Given the description of an element on the screen output the (x, y) to click on. 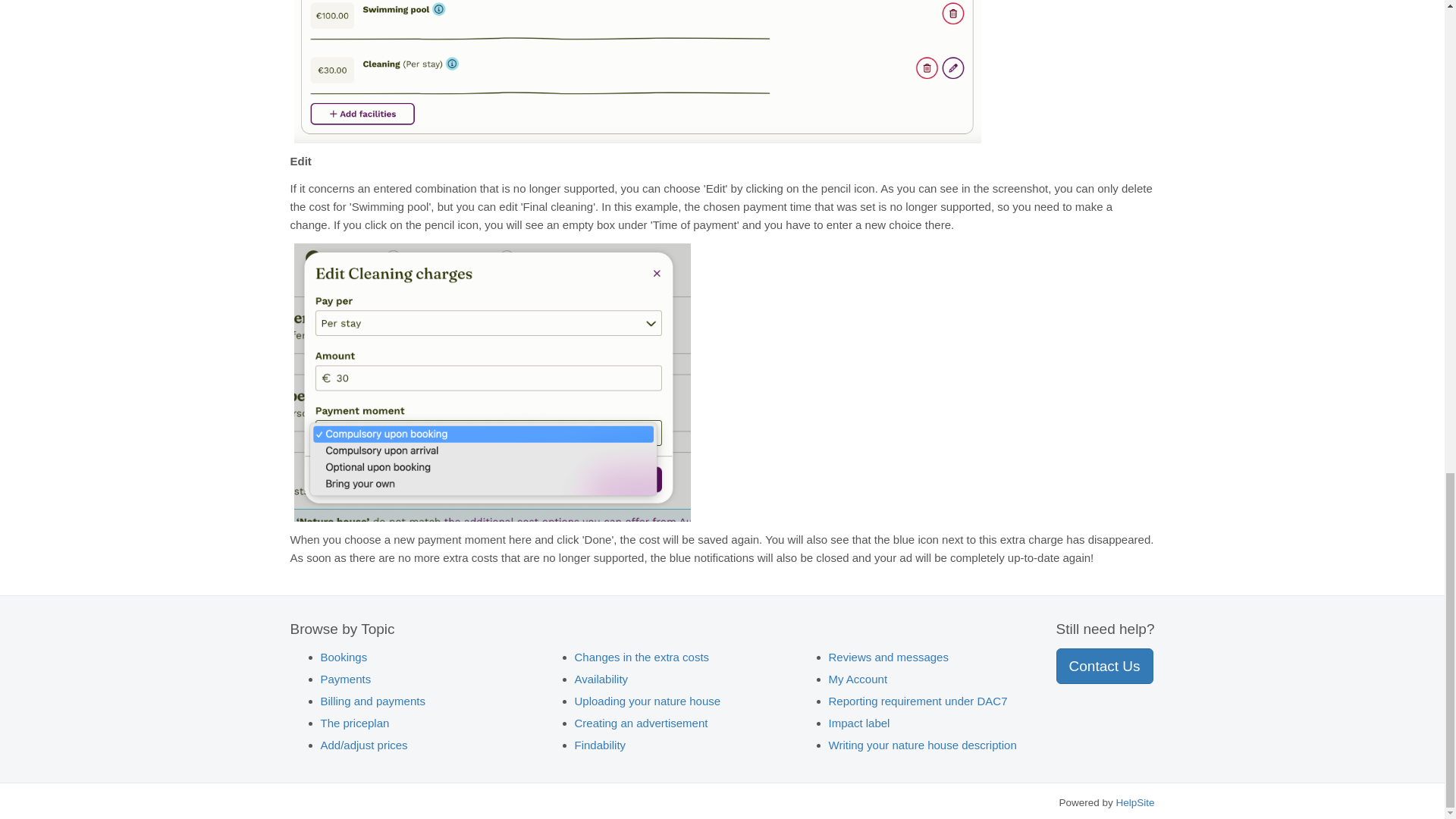
Impact label (858, 722)
Billing and payments (372, 700)
Payments (345, 678)
The priceplan (354, 722)
Uploading your nature house (647, 700)
Findability (600, 744)
My Account (858, 678)
Availability (601, 678)
Creating an advertisement (641, 722)
Changes in the extra costs (642, 656)
Bookings (343, 656)
Writing your nature house description (922, 744)
HelpSite (1134, 802)
Reviews and messages (888, 656)
Reporting requirement under DAC7 (917, 700)
